Given the description of an element on the screen output the (x, y) to click on. 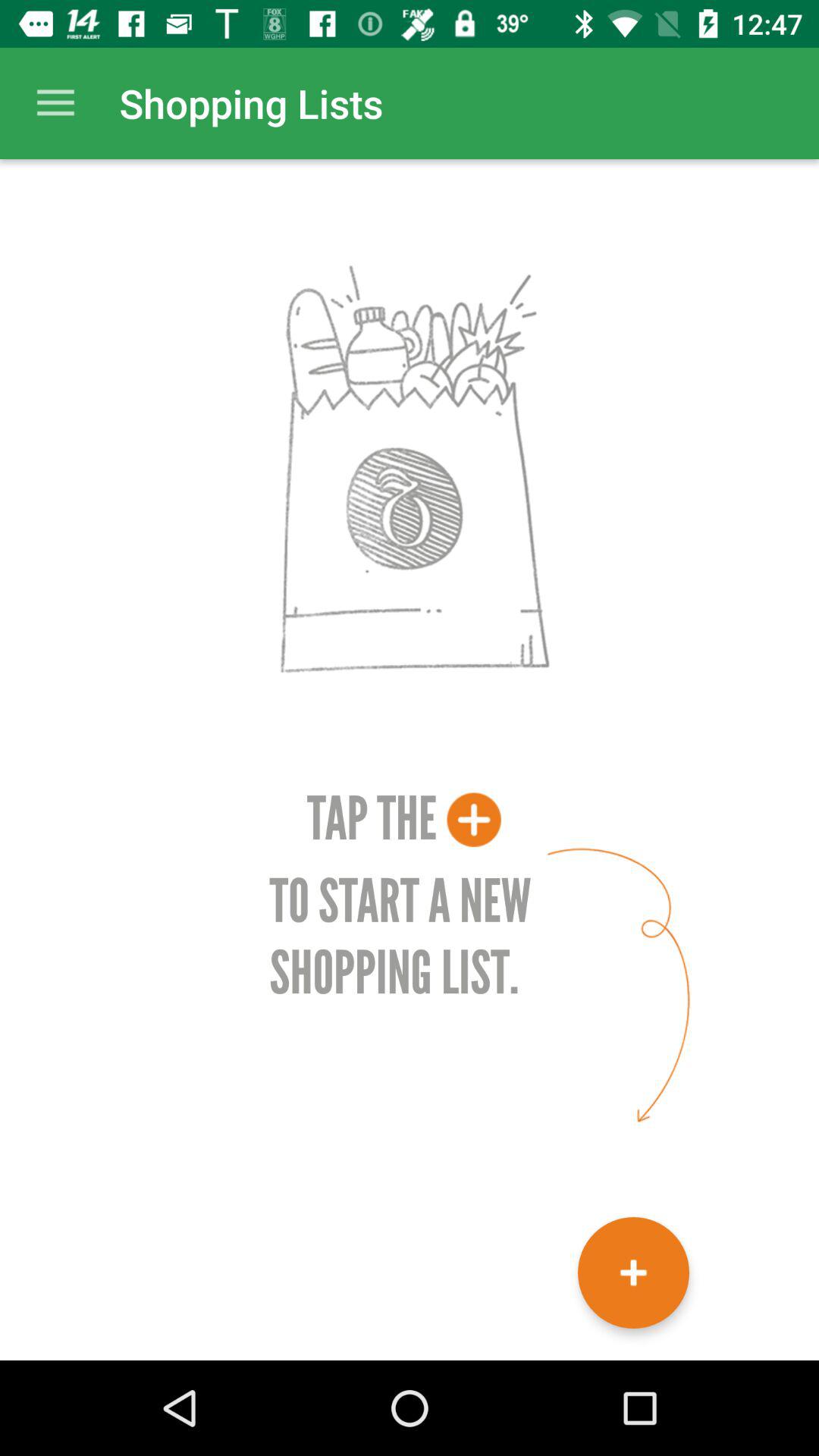
create a new shopping list (633, 1272)
